Given the description of an element on the screen output the (x, y) to click on. 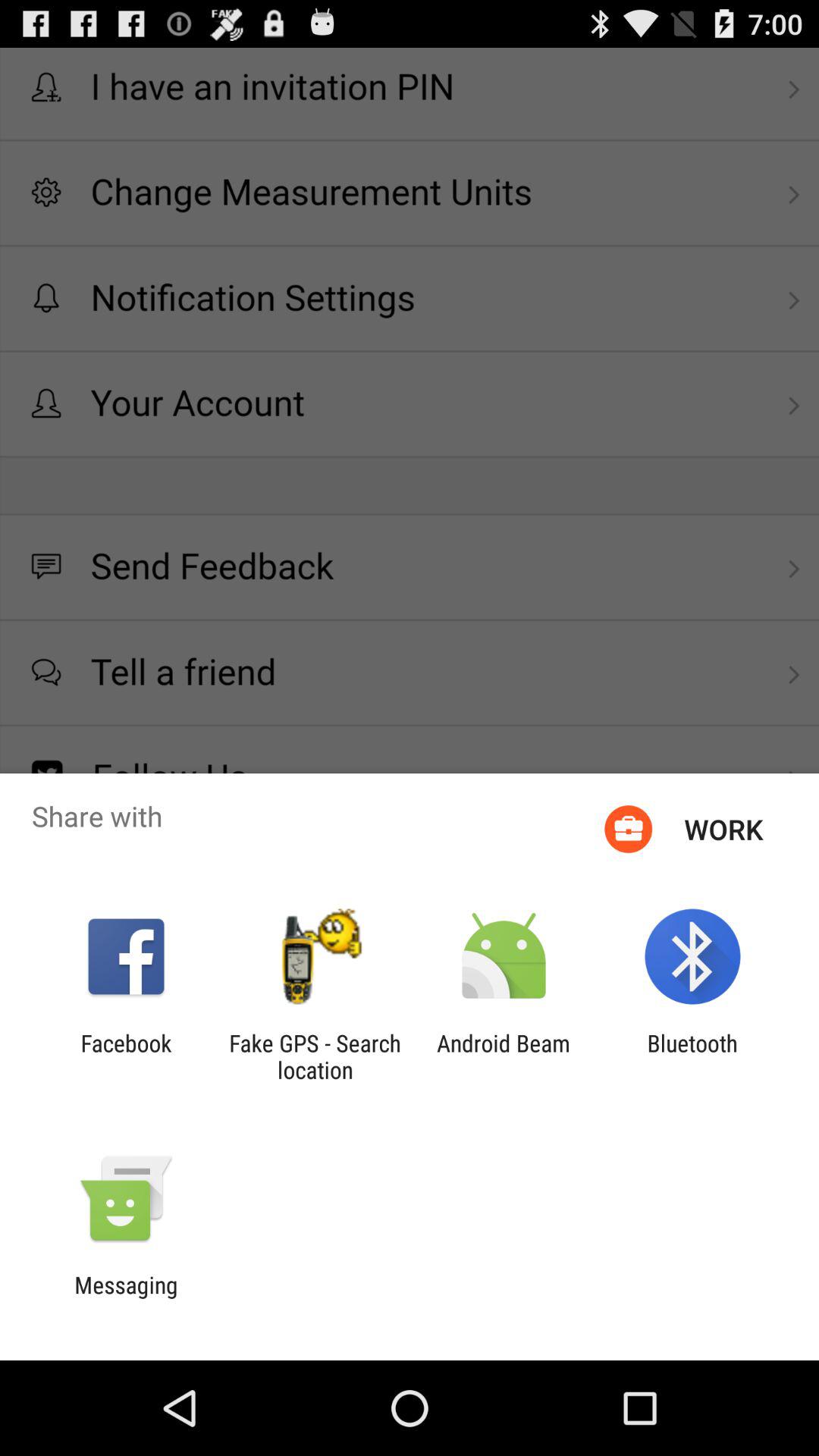
turn off app next to facebook (314, 1056)
